Given the description of an element on the screen output the (x, y) to click on. 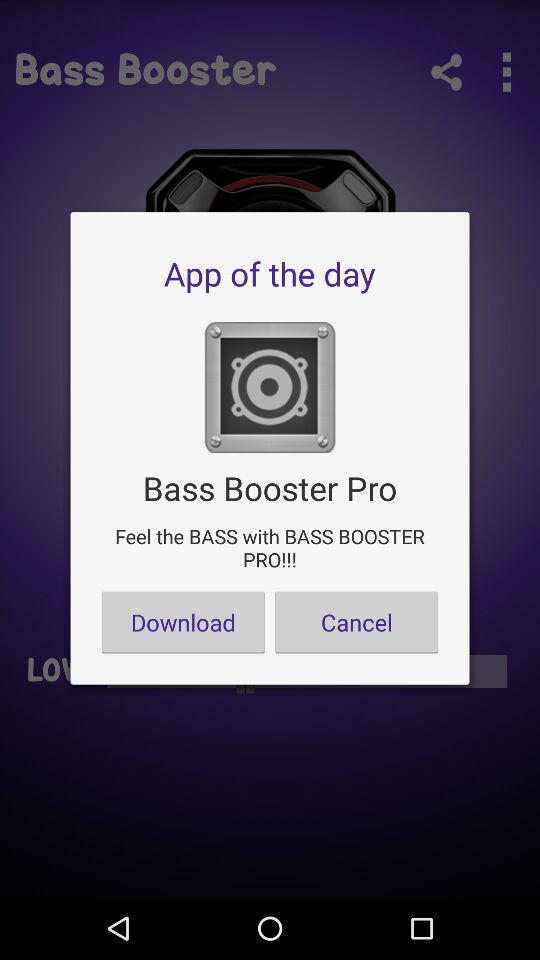
tap button next to download (356, 622)
